Given the description of an element on the screen output the (x, y) to click on. 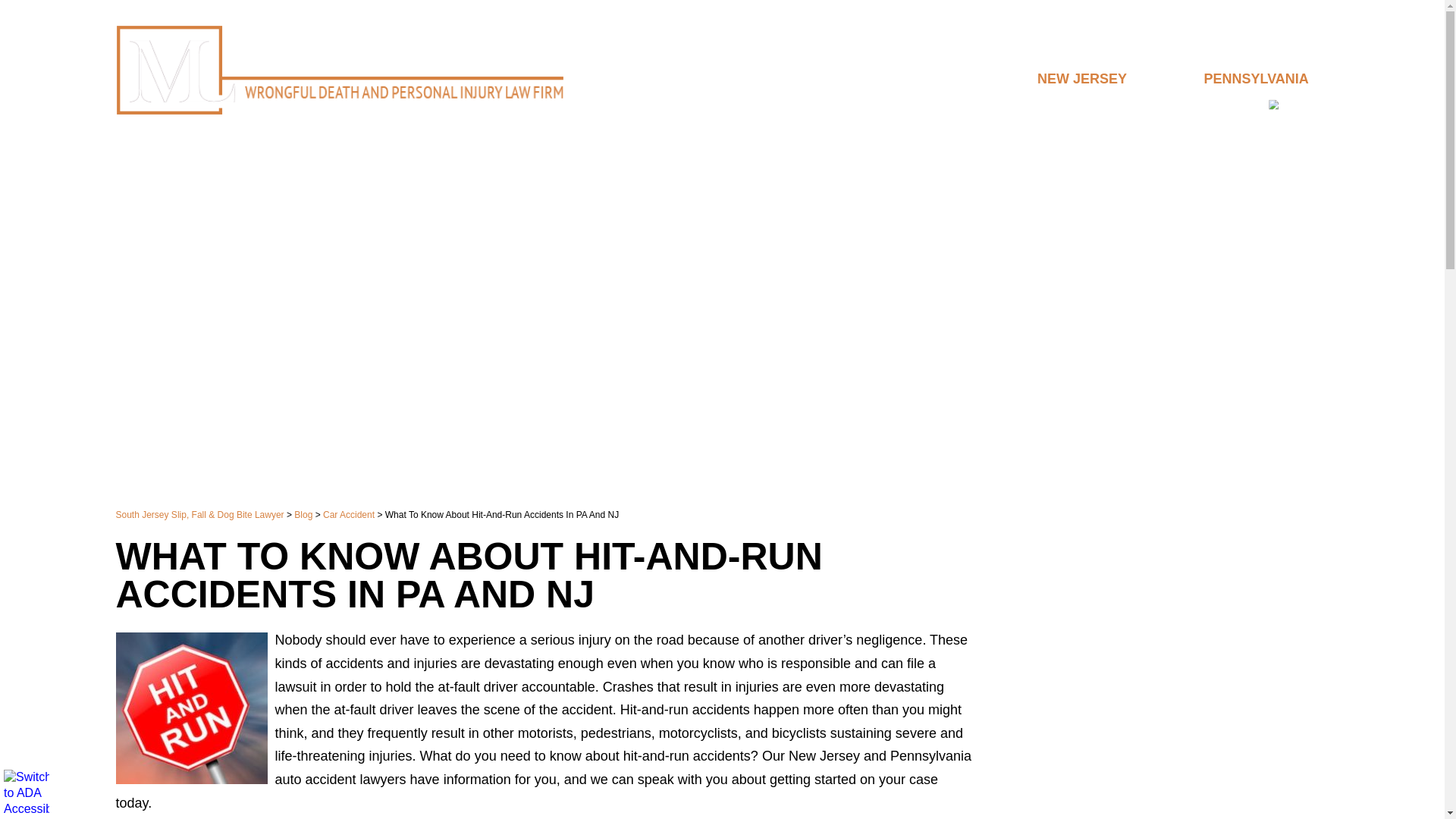
215-546-3166 (1243, 48)
RESULTS (997, 105)
609-277-3166 (1070, 48)
HitRun3 (190, 707)
PRACTICE AREAS (901, 105)
HOME (680, 105)
ATTORNEY PROFILE (773, 105)
Switch to ADA Accessible Theme (26, 791)
